Given the description of an element on the screen output the (x, y) to click on. 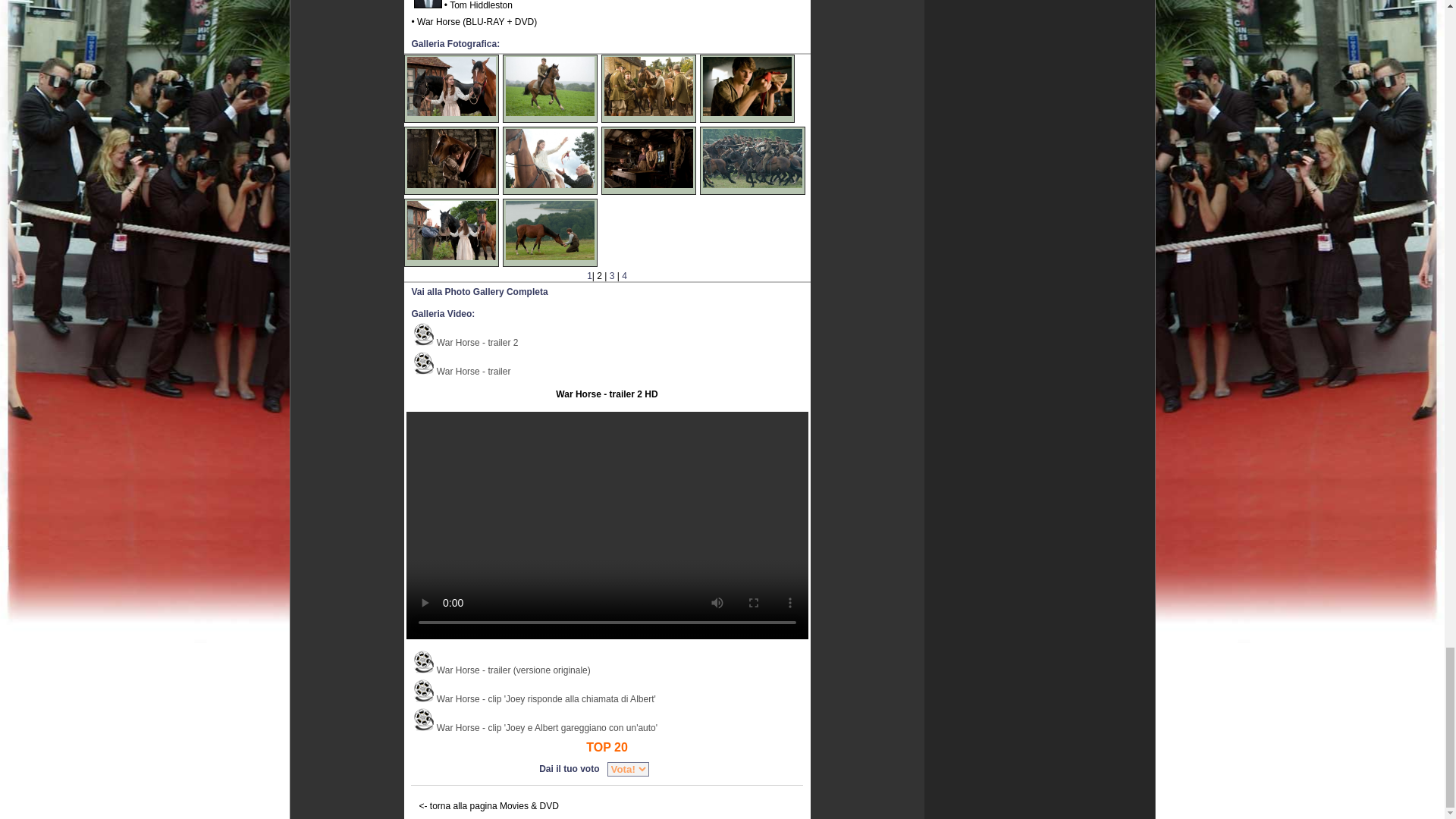
Visualizza la scheda di Tom Hiddleston (427, 5)
